Given the description of an element on the screen output the (x, y) to click on. 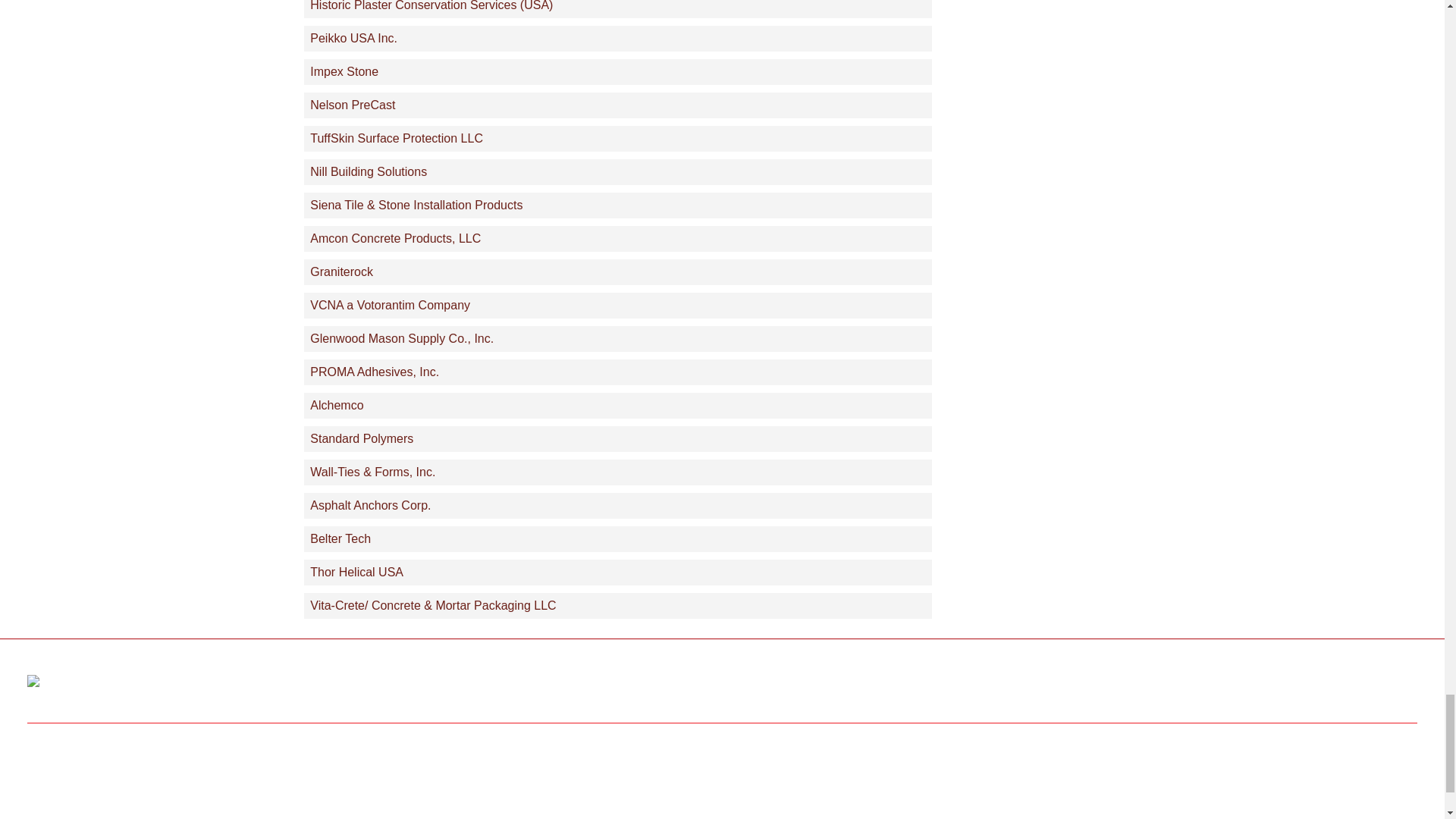
Pinterest (1344, 685)
YouTube (1289, 685)
Twitter (1235, 685)
Facebook (1179, 685)
LinkedIn (1398, 685)
